Given the description of an element on the screen output the (x, y) to click on. 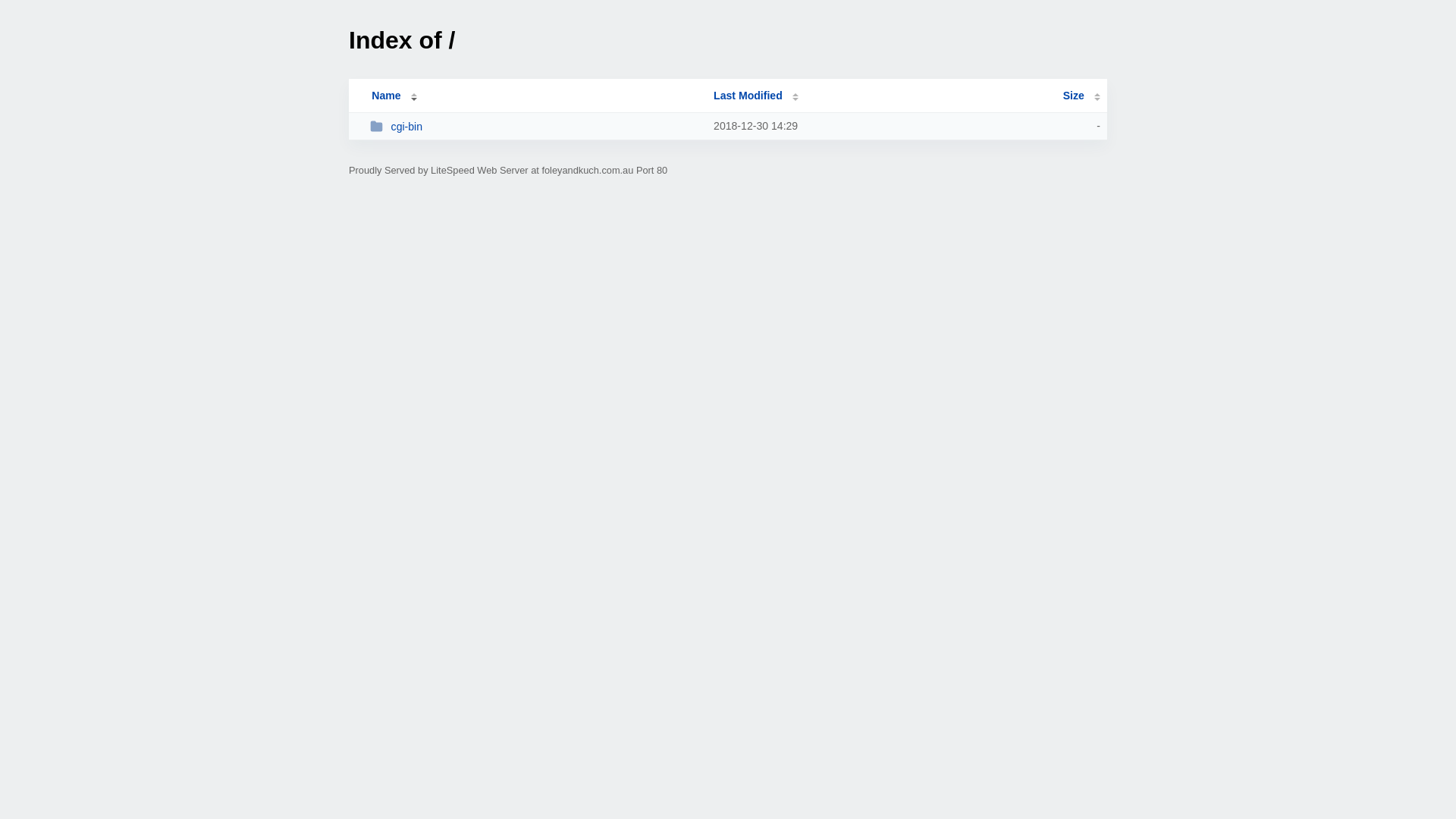
Size Element type: text (1081, 95)
Name Element type: text (385, 95)
Last Modified Element type: text (755, 95)
cgi-bin Element type: text (534, 125)
